Given the description of an element on the screen output the (x, y) to click on. 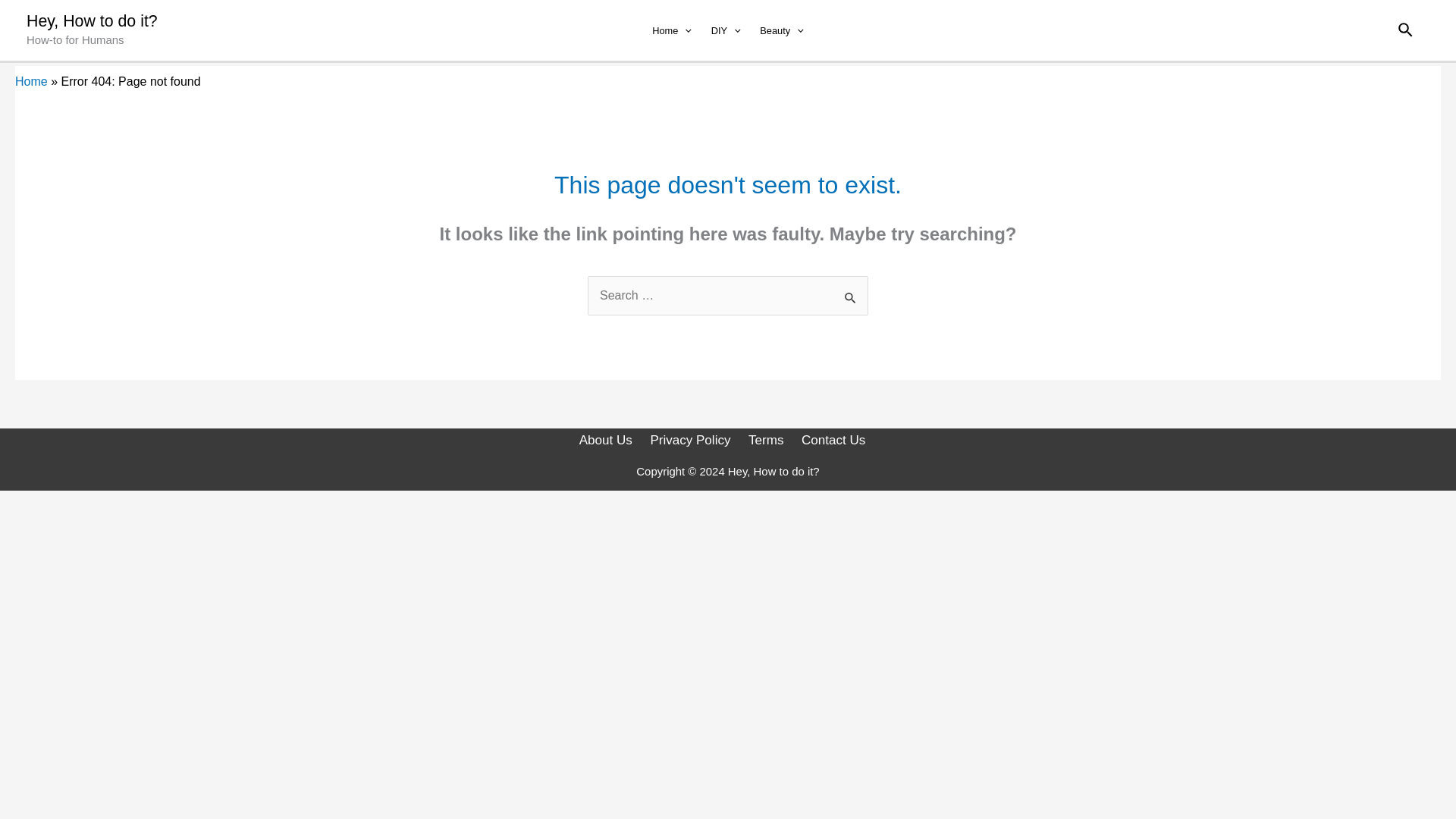
Beauty (780, 30)
About Us (611, 440)
Contact Us (835, 440)
Terms (767, 440)
Home (671, 30)
Hey, How to do it? (91, 21)
Home (31, 81)
Privacy Policy (692, 440)
DIY (726, 30)
